Given the description of an element on the screen output the (x, y) to click on. 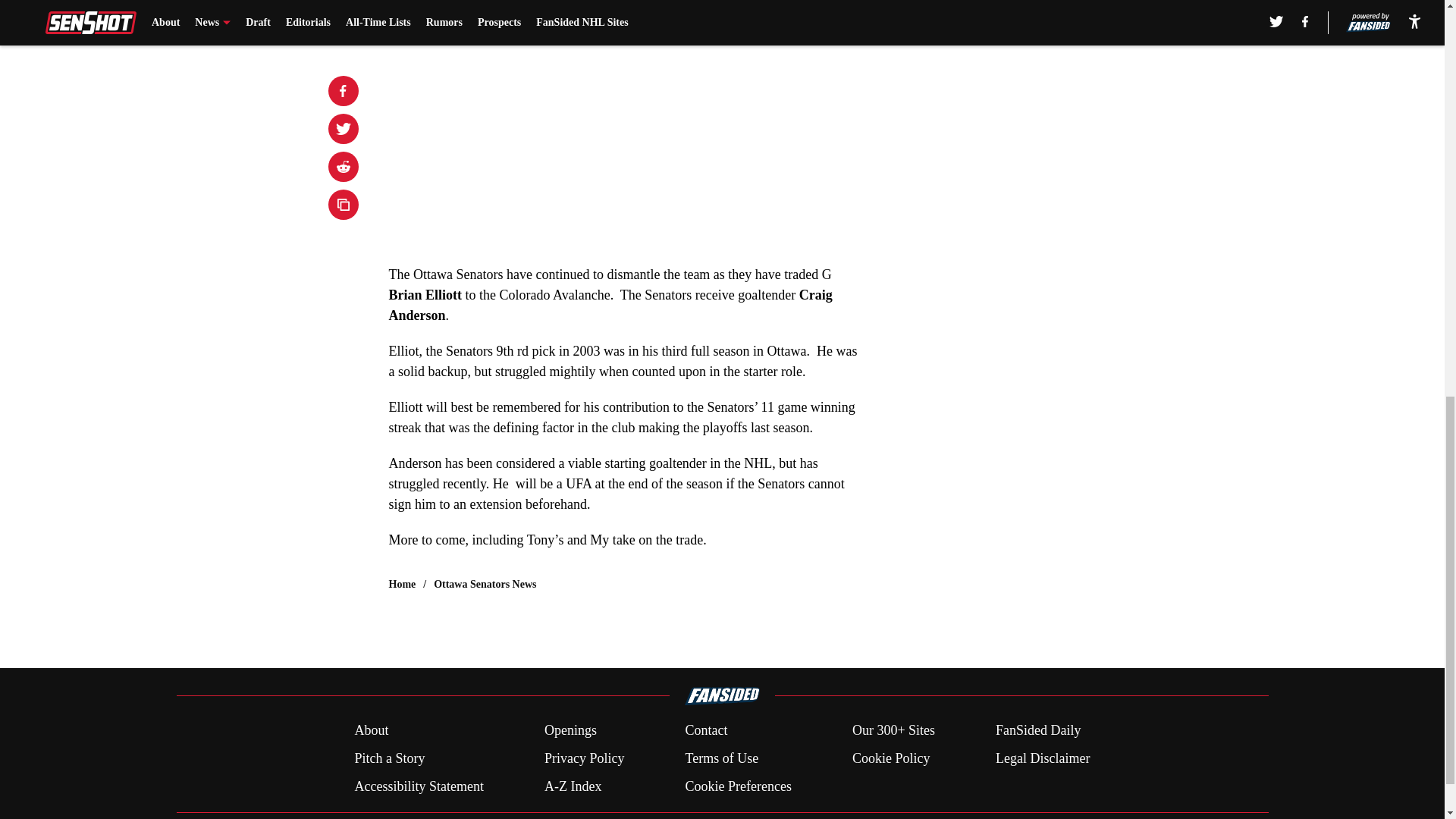
Privacy Policy (584, 758)
Terms of Use (721, 758)
A-Z Index (572, 786)
About (370, 730)
Ottawa Senators News (484, 584)
Contact (705, 730)
Cookie Policy (890, 758)
Home (401, 584)
Openings (570, 730)
Pitch a Story (389, 758)
